Given the description of an element on the screen output the (x, y) to click on. 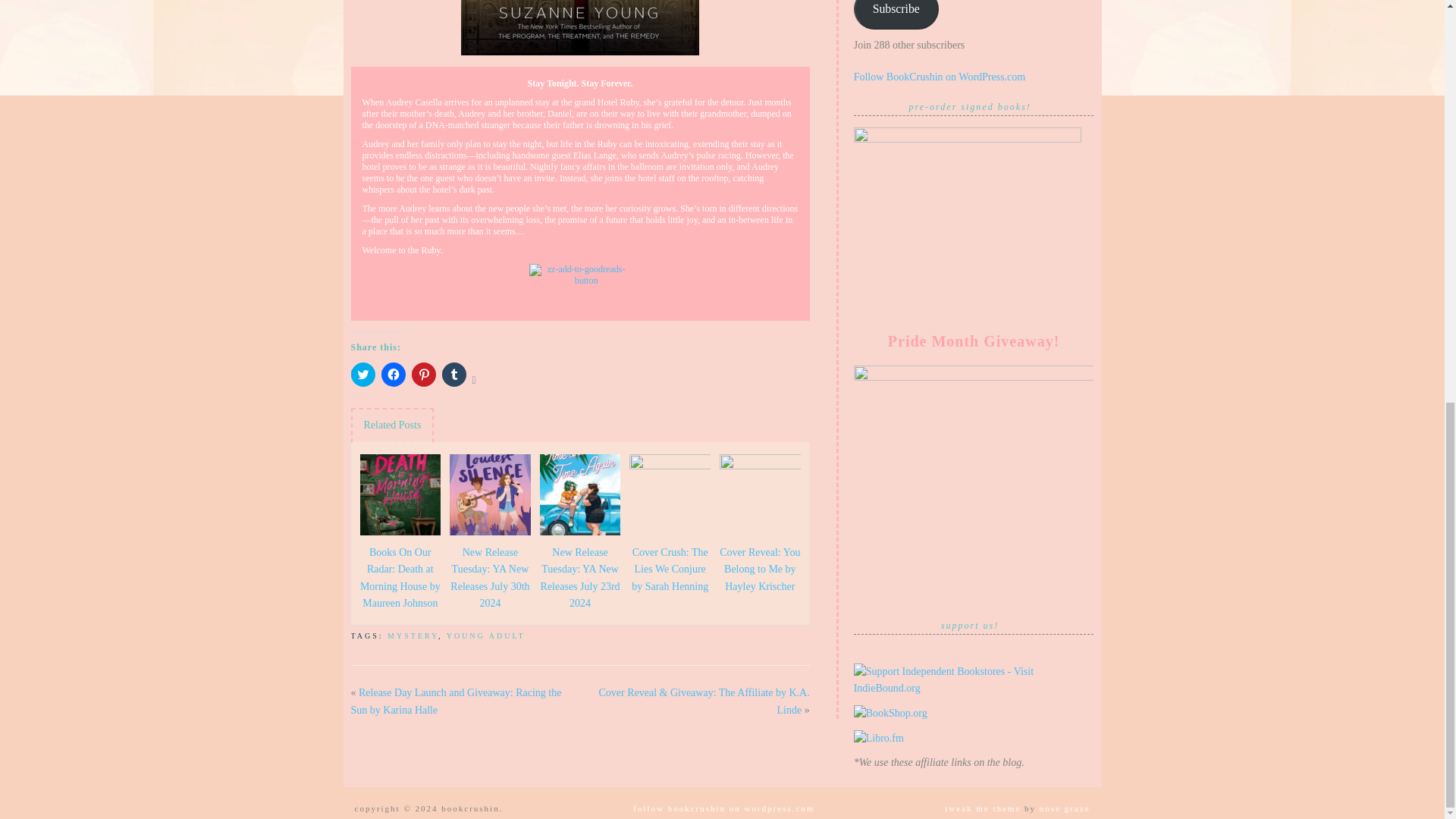
Click to share on Tumblr (453, 374)
Click to share on Facebook (392, 374)
Click to share on Twitter (362, 374)
Click to share on Pinterest (422, 374)
